Given the description of an element on the screen output the (x, y) to click on. 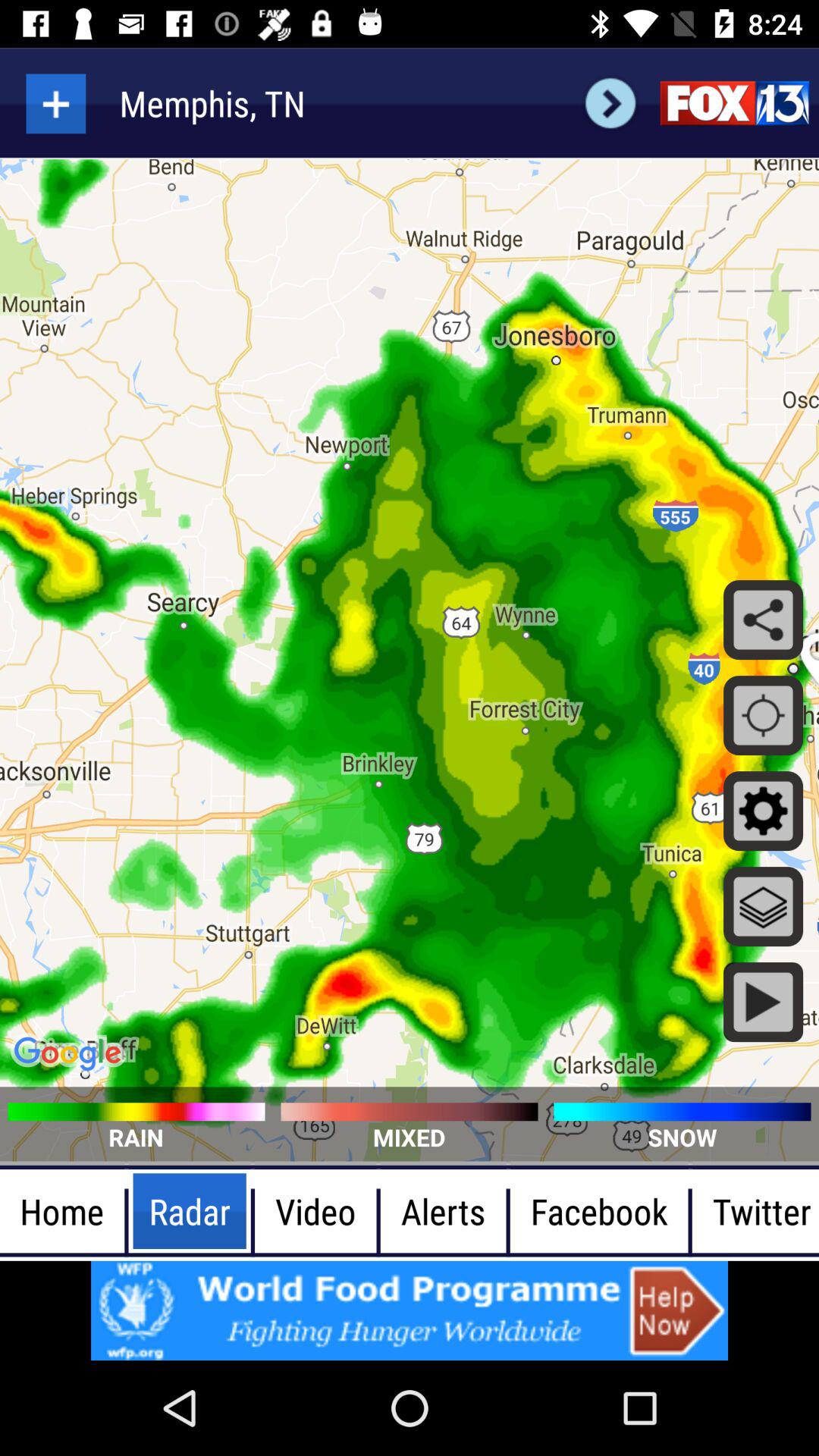
team of certified meteorologists provides the most accurate local forecasts (734, 103)
